Given the description of an element on the screen output the (x, y) to click on. 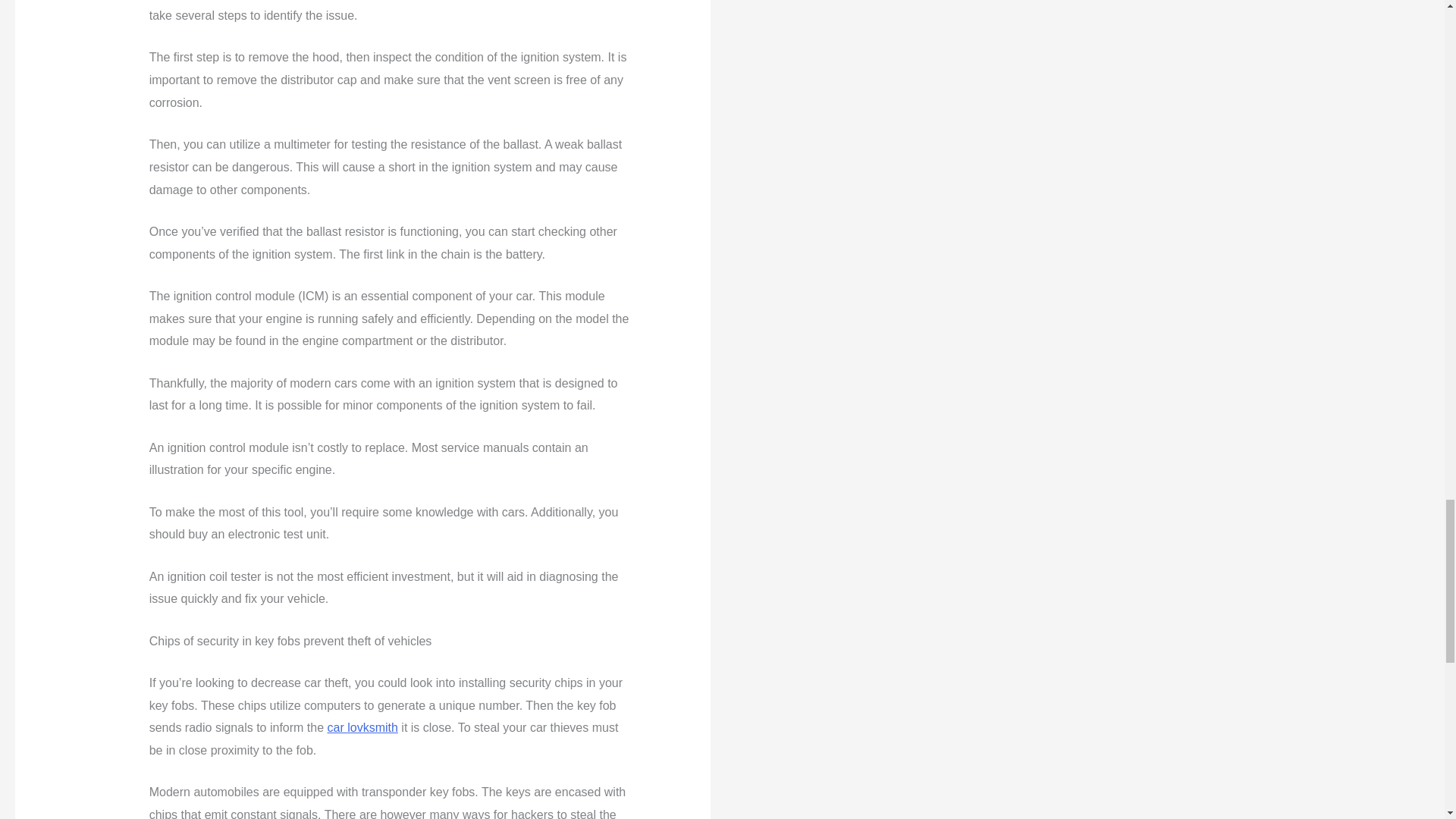
car lovksmith (362, 727)
